Given the description of an element on the screen output the (x, y) to click on. 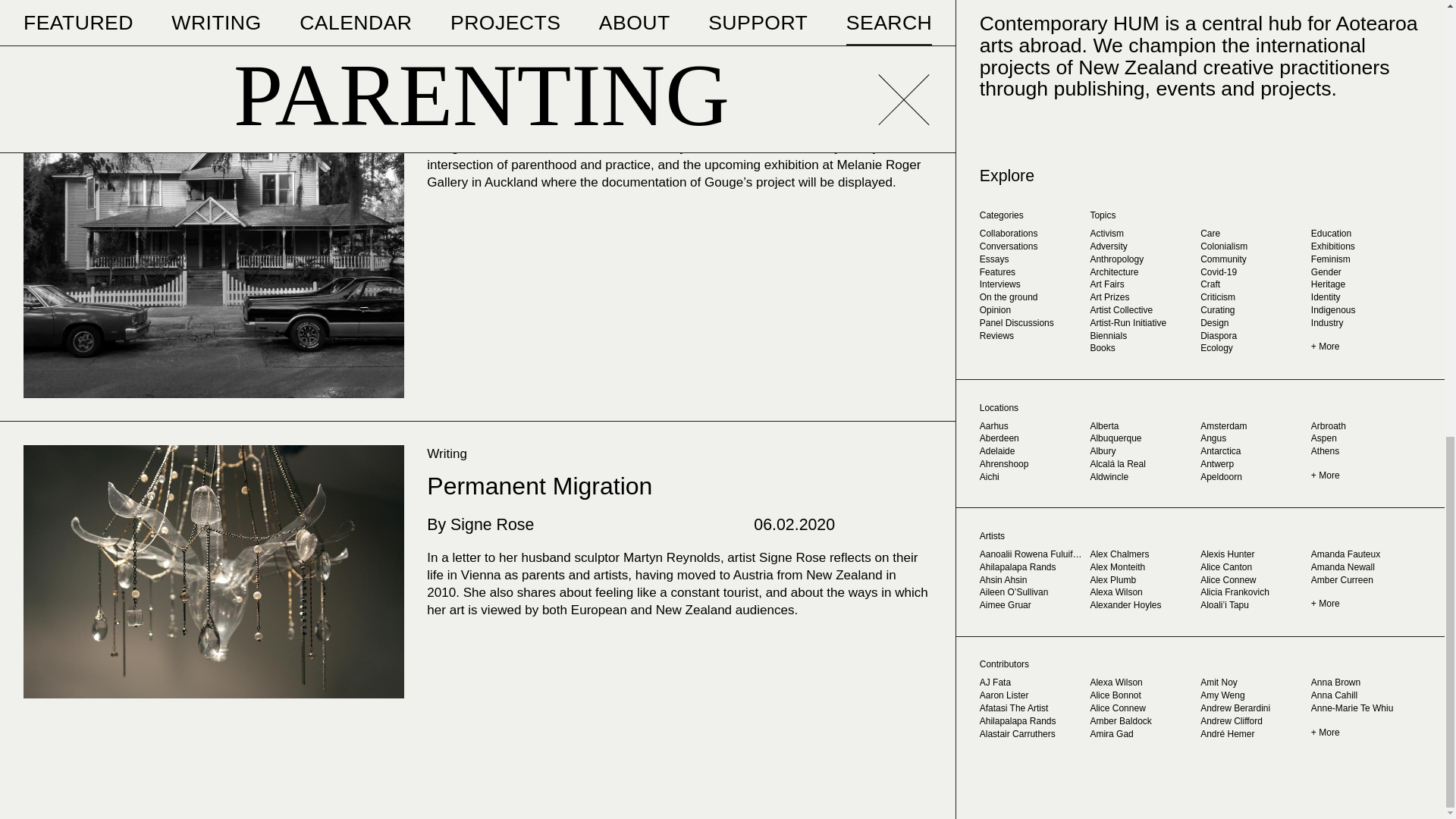
Image courtesy of the author (213, 572)
